Given the description of an element on the screen output the (x, y) to click on. 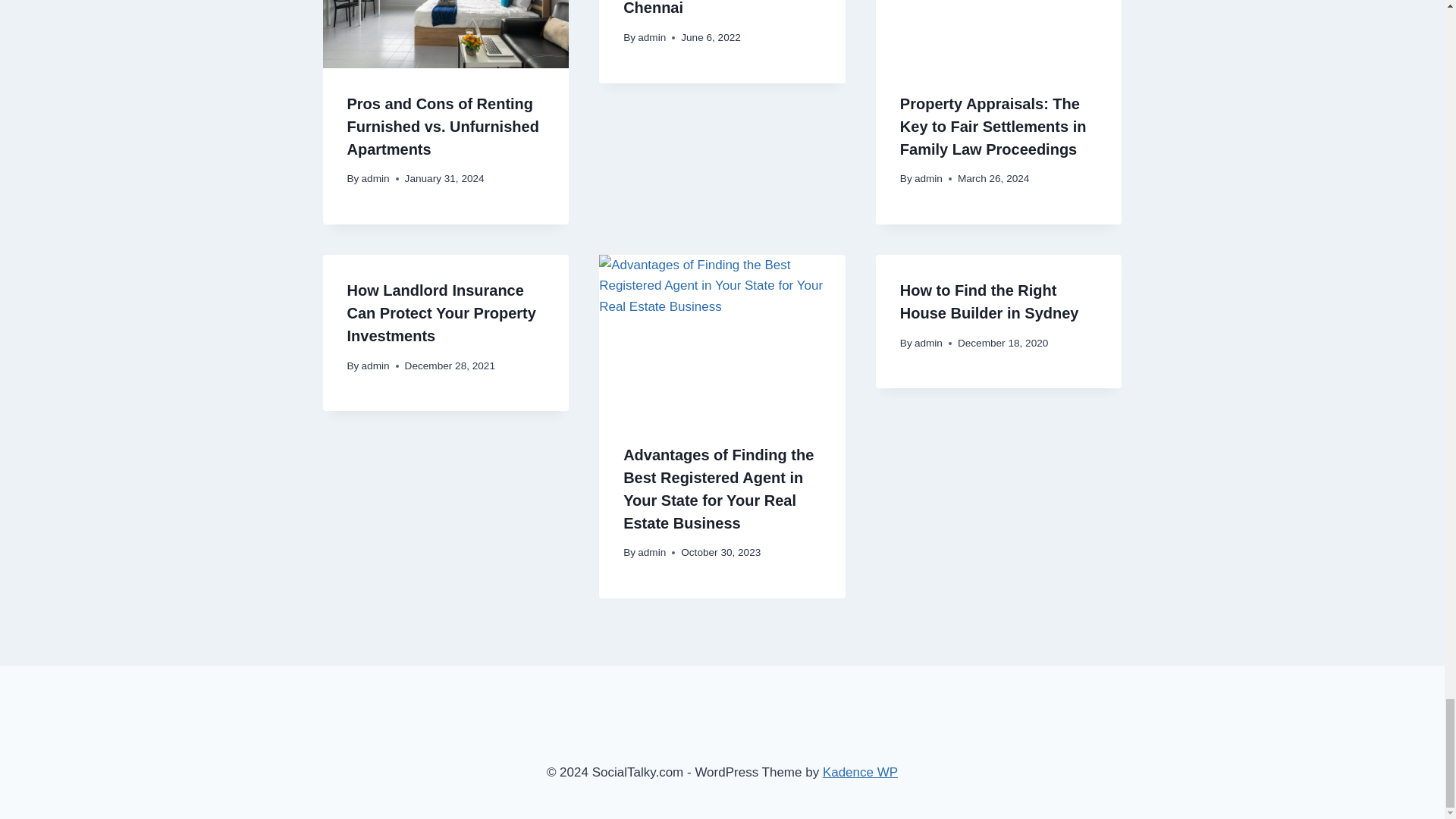
admin (375, 178)
